Given the description of an element on the screen output the (x, y) to click on. 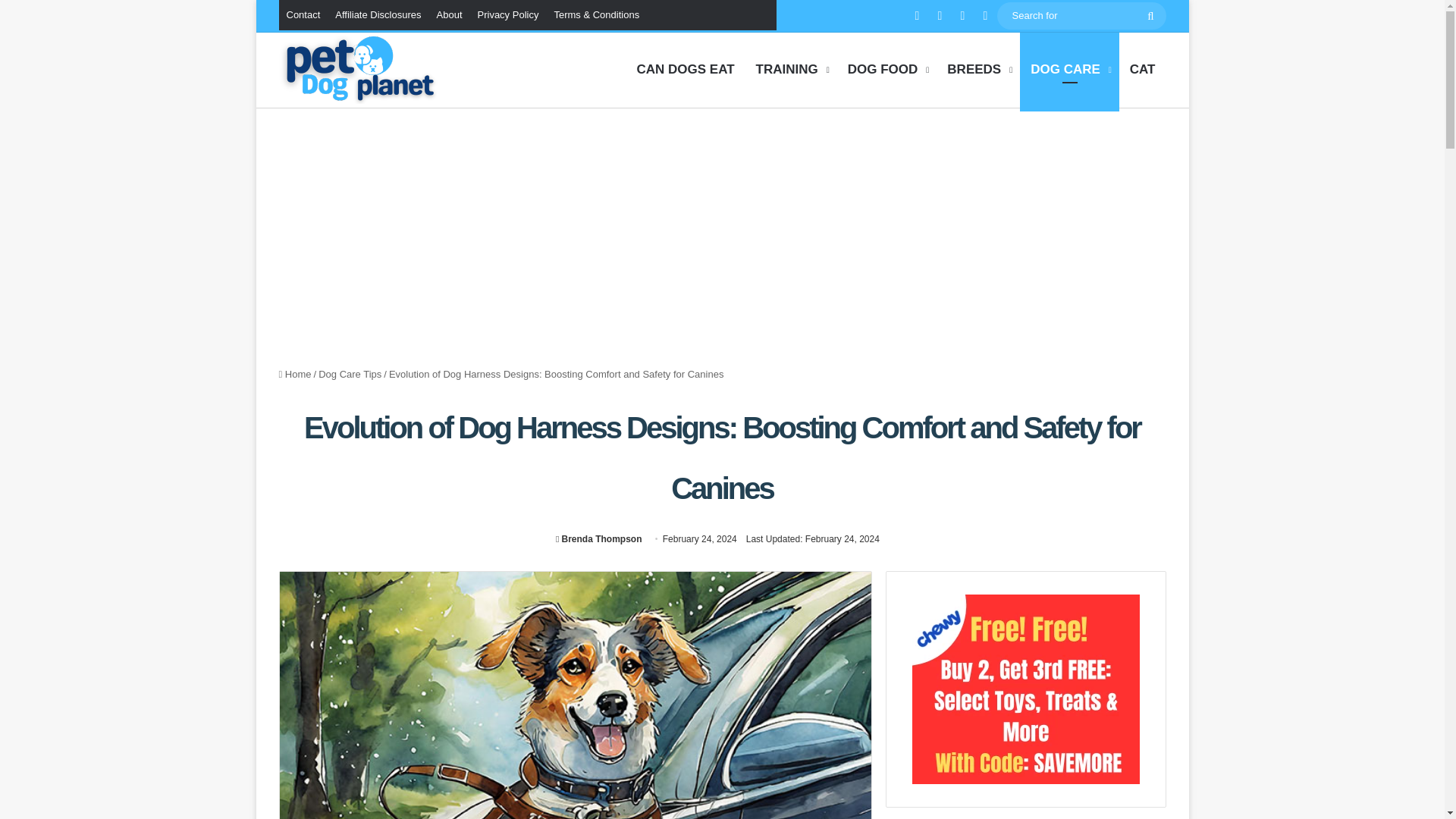
DOG CARE (1069, 69)
Home (295, 374)
Brenda Thompson (599, 538)
Search for (1150, 15)
Search for (1081, 15)
Brenda Thompson (599, 538)
Affiliate Disclosures (377, 15)
Privacy Policy (508, 15)
Pet Dog Planet (430, 70)
Contact (304, 15)
DOG FOOD (887, 69)
TRAINING (791, 69)
Dog Care Tips (349, 374)
BREEDS (978, 69)
About (449, 15)
